Given the description of an element on the screen output the (x, y) to click on. 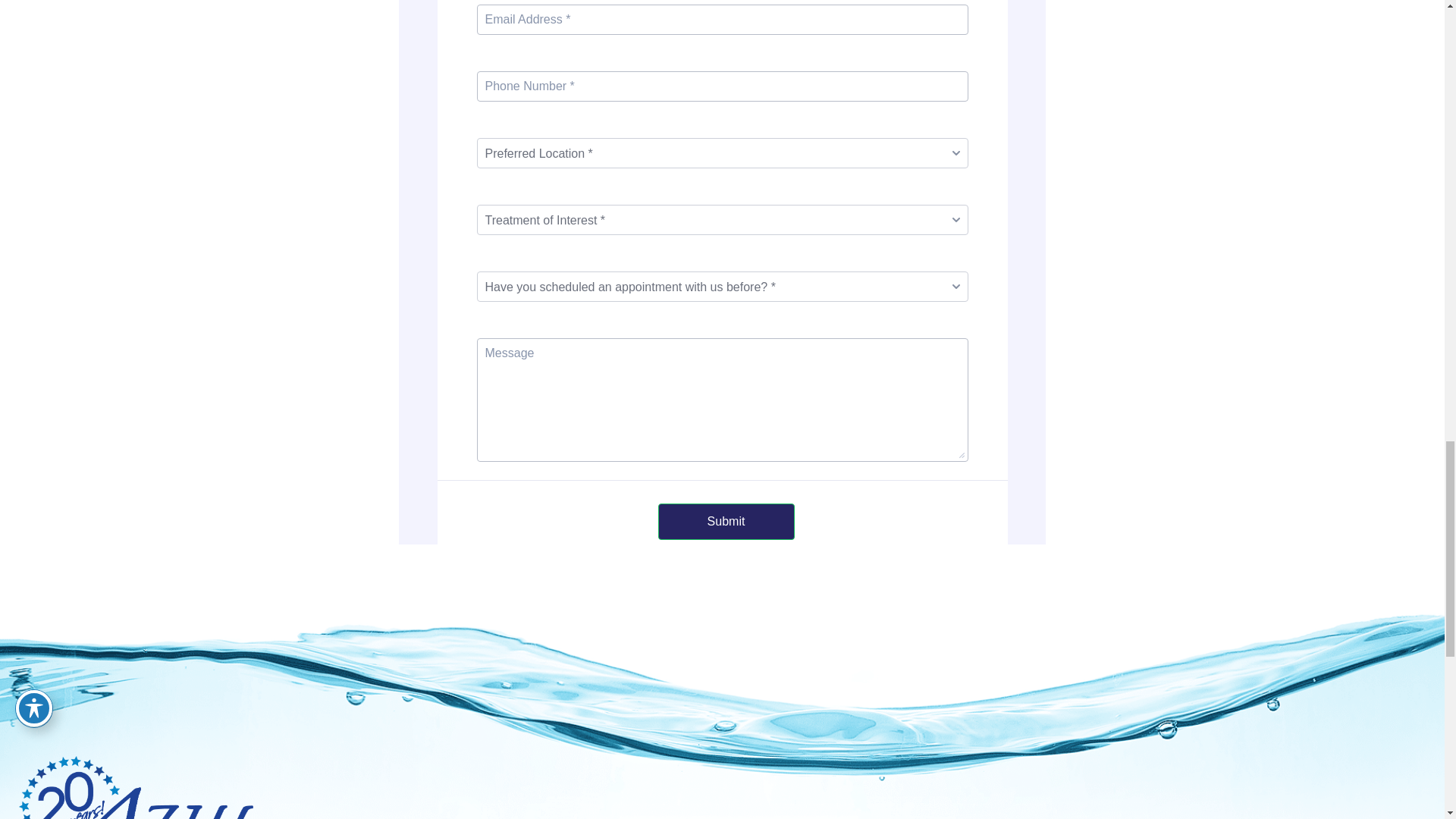
main logo (141, 787)
